Given the description of an element on the screen output the (x, y) to click on. 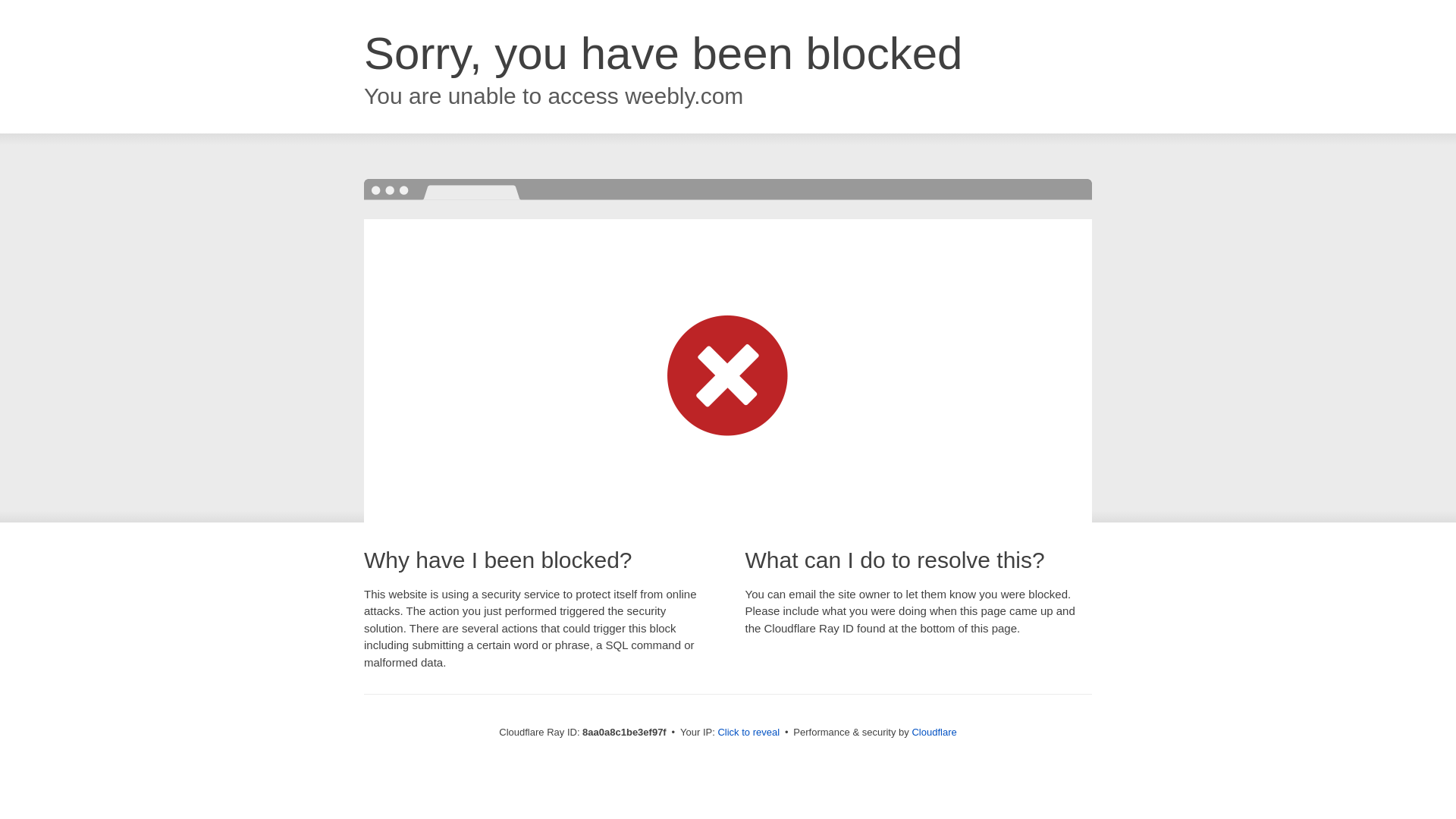
Click to reveal (747, 732)
Cloudflare (933, 731)
